Given the description of an element on the screen output the (x, y) to click on. 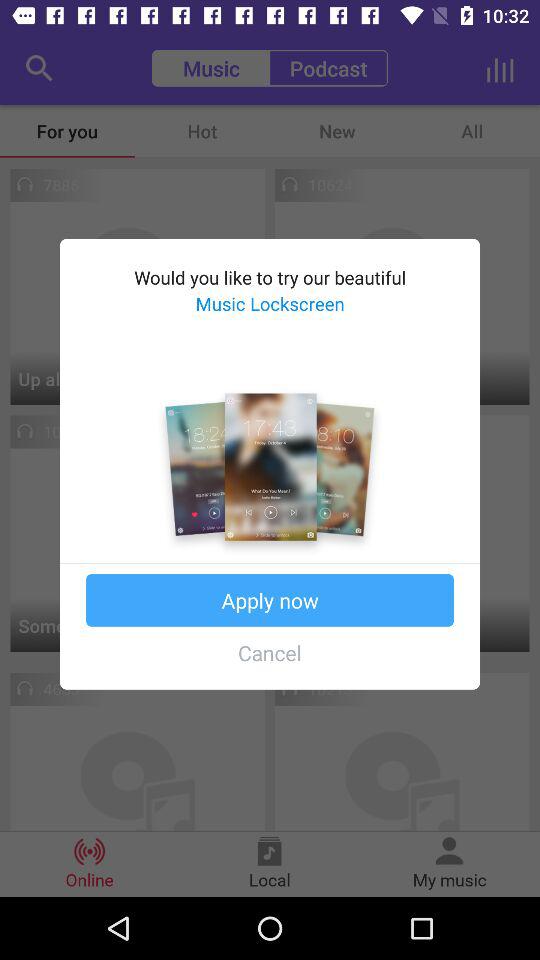
flip until cancel icon (269, 652)
